Given the description of an element on the screen output the (x, y) to click on. 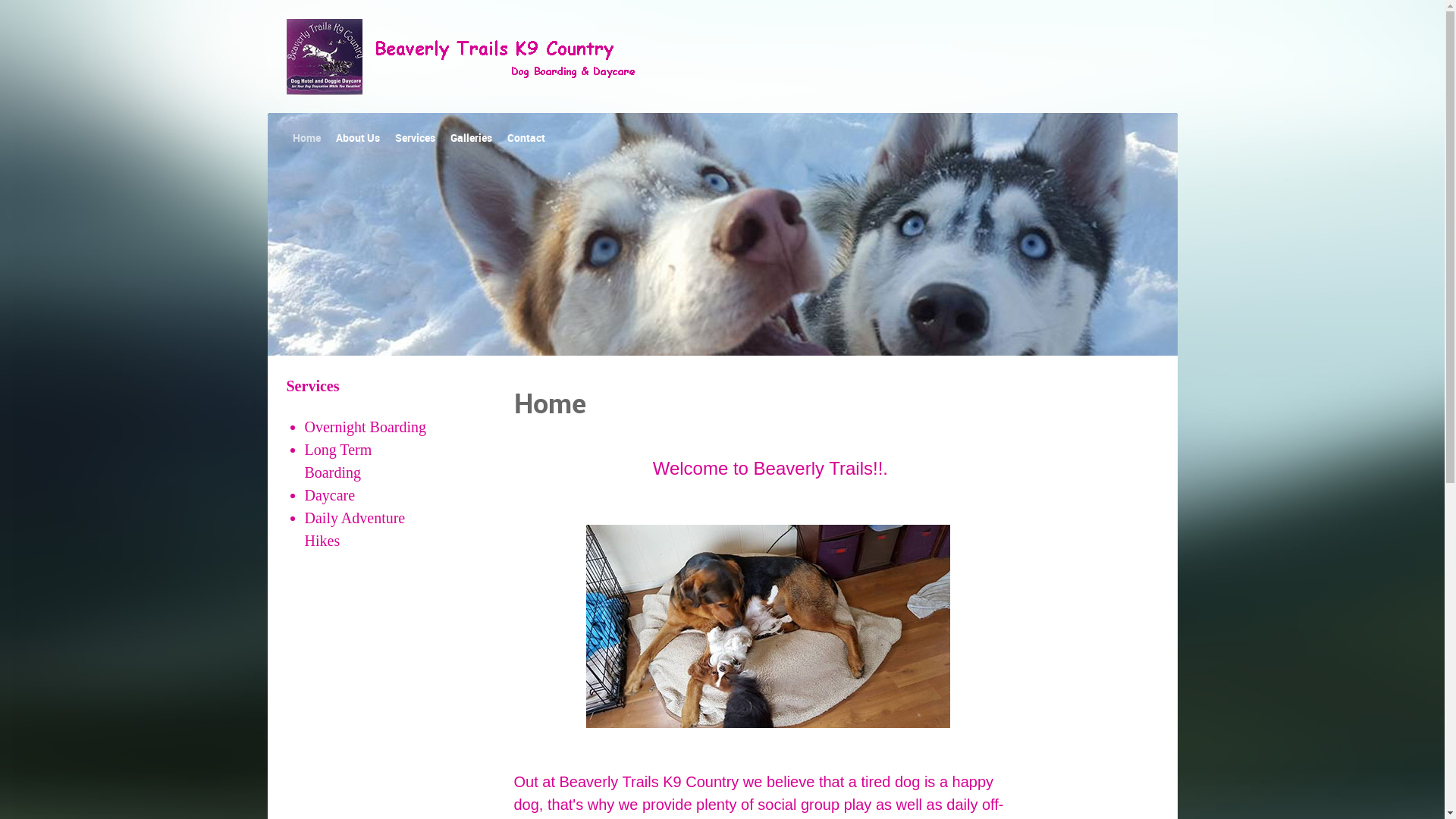
Contact Element type: text (525, 138)
Galleries Element type: text (471, 138)
Services Element type: text (414, 138)
Home Element type: text (306, 138)
About Us Element type: text (357, 138)
